Given the description of an element on the screen output the (x, y) to click on. 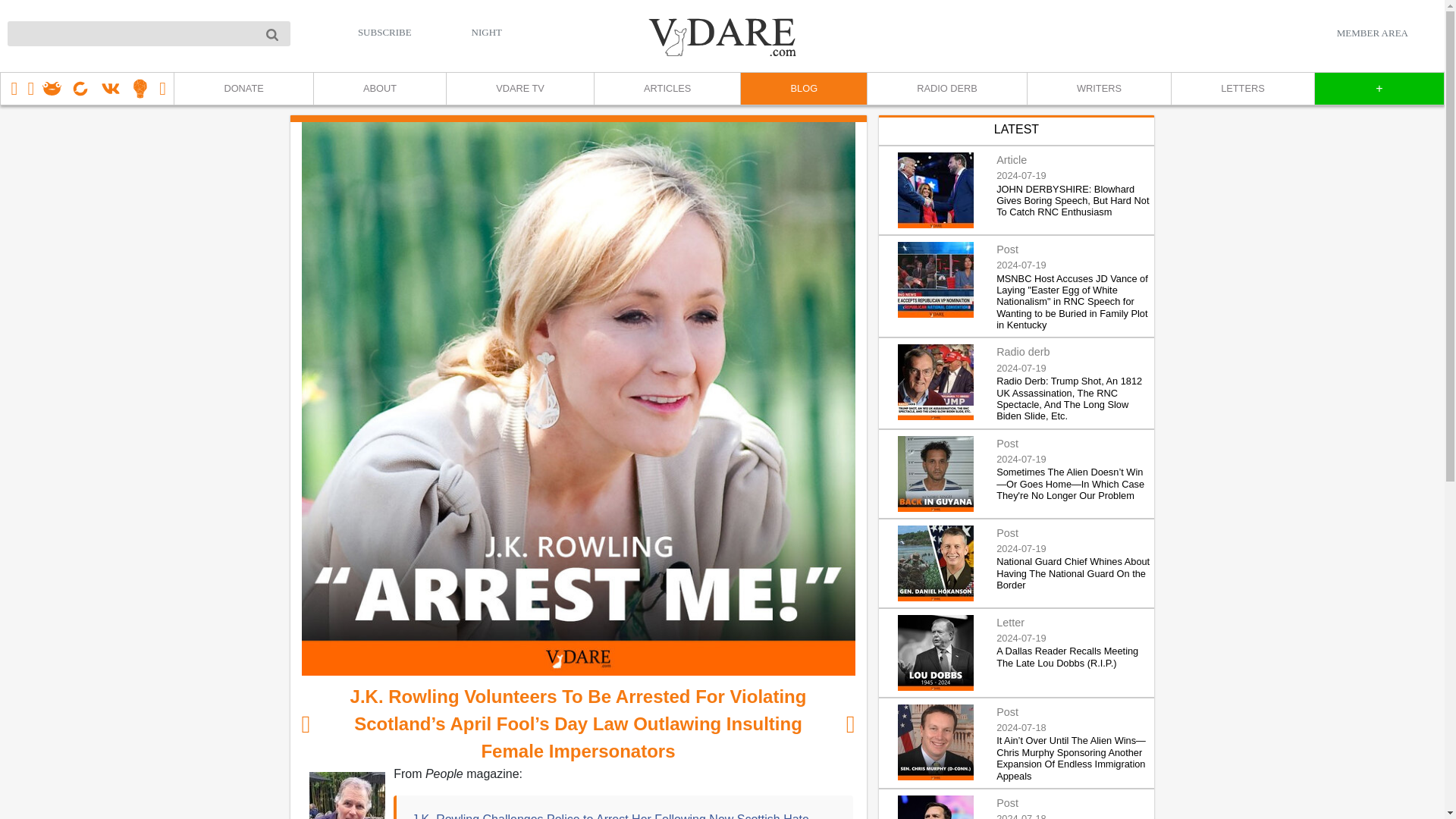
LETTERS (1242, 88)
BLOG (802, 88)
ARTICLES (666, 88)
SUBSCRIBE (385, 31)
WRITERS (1098, 88)
DONATE (243, 88)
RADIO DERB (946, 88)
MEMBER AREA (1371, 32)
ABOUT (379, 88)
VDARE TV (519, 88)
